Given the description of an element on the screen output the (x, y) to click on. 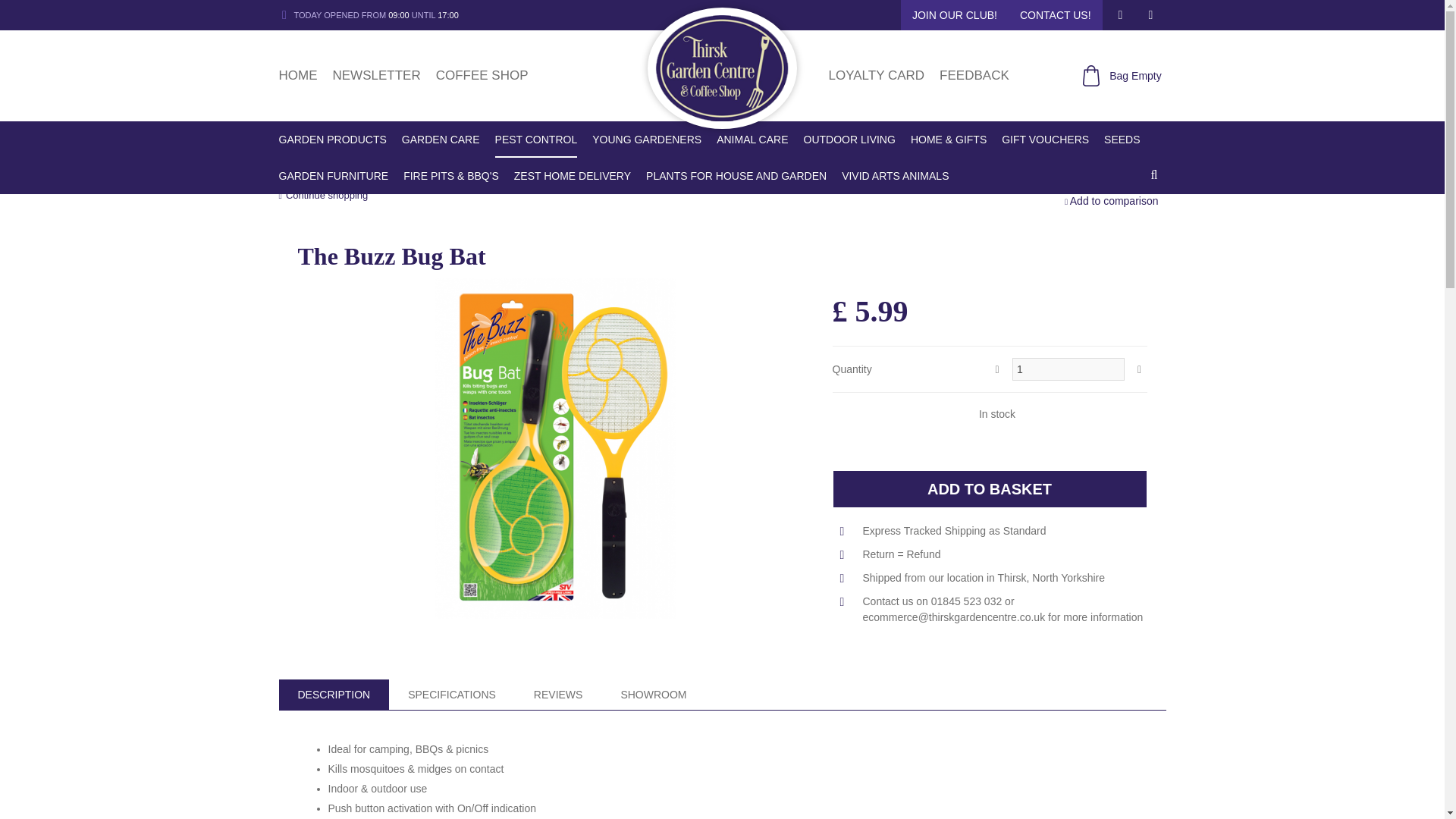
LOYALTY CARD (876, 75)
HOME (298, 75)
CONTACT US! (1055, 15)
COFFEE SHOP (481, 75)
TT (1150, 15)
Pest and Disease Control (419, 174)
GARDEN CARE (440, 139)
FB (1120, 15)
Order (989, 488)
Newsletter (375, 75)
